Given the description of an element on the screen output the (x, y) to click on. 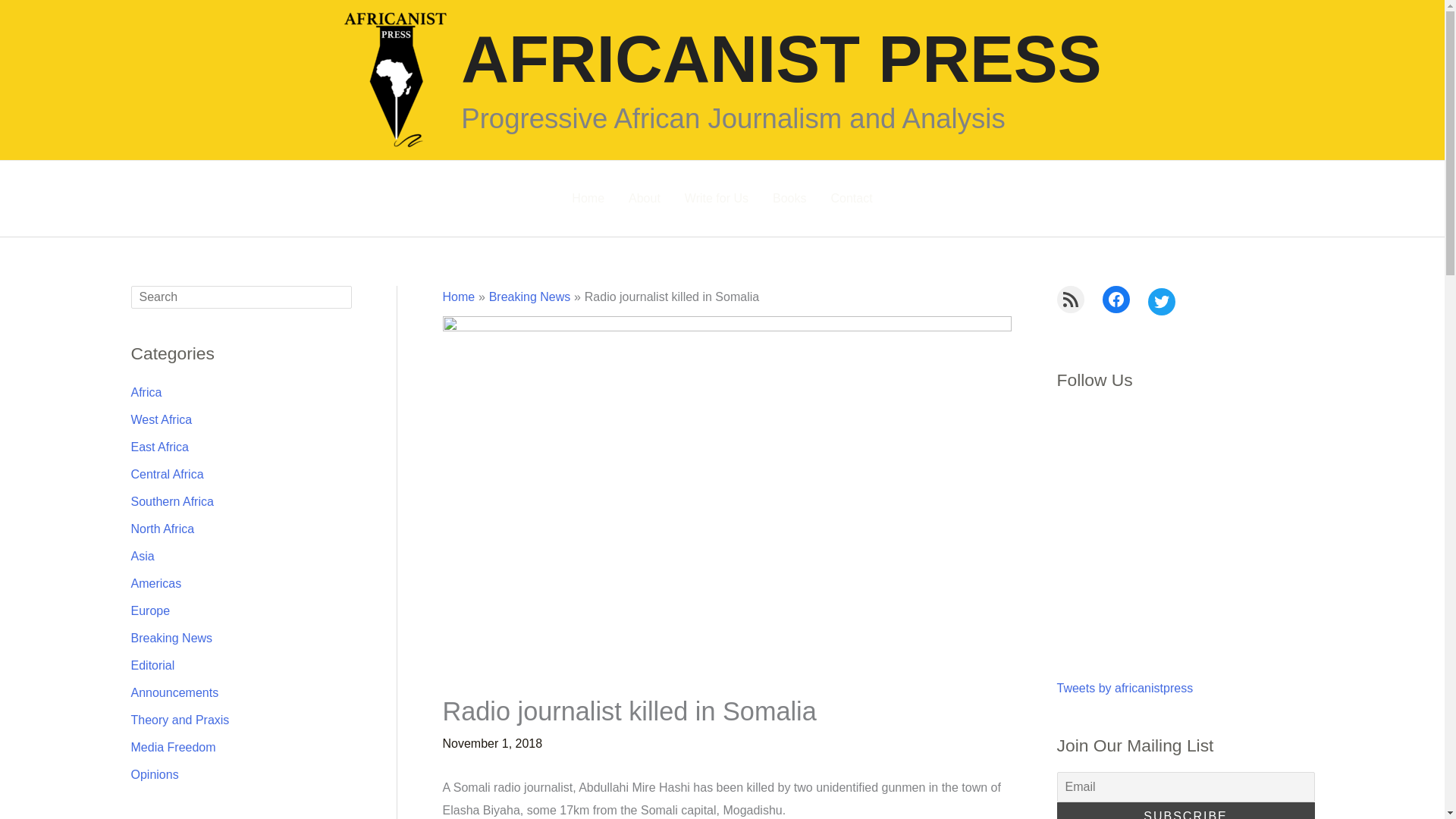
Africa (146, 391)
Central Africa (167, 472)
Subscribe (1185, 810)
Opinions (154, 773)
North Africa (162, 527)
Theory and Praxis (179, 718)
Write for Us (716, 198)
East Africa (159, 445)
Breaking News (529, 296)
Americas (155, 582)
